Given the description of an element on the screen output the (x, y) to click on. 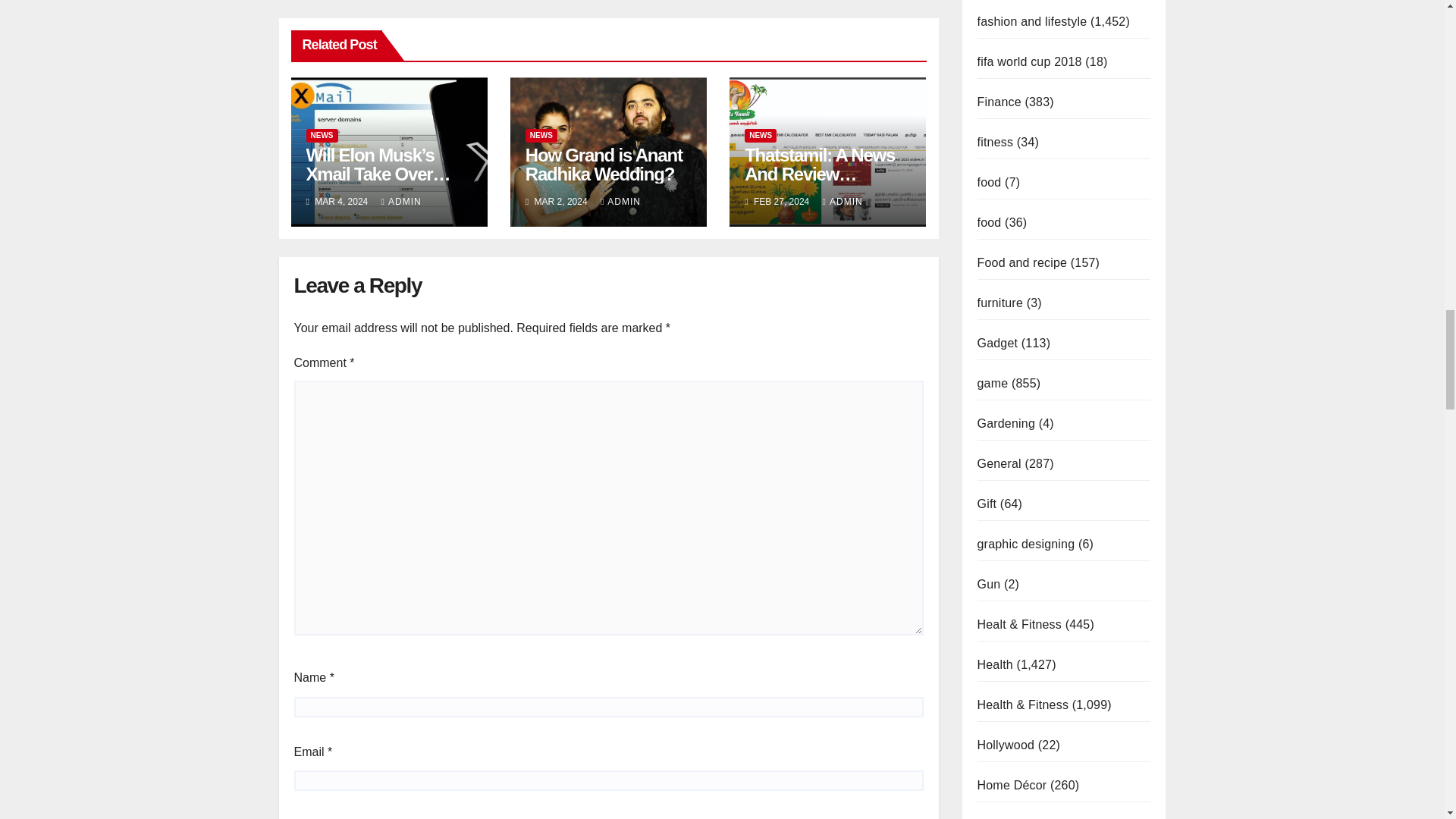
NEWS (541, 135)
ADMIN (401, 201)
Permalink to: How Grand is Anant Radhika Wedding? (603, 164)
NEWS (321, 135)
